Given the description of an element on the screen output the (x, y) to click on. 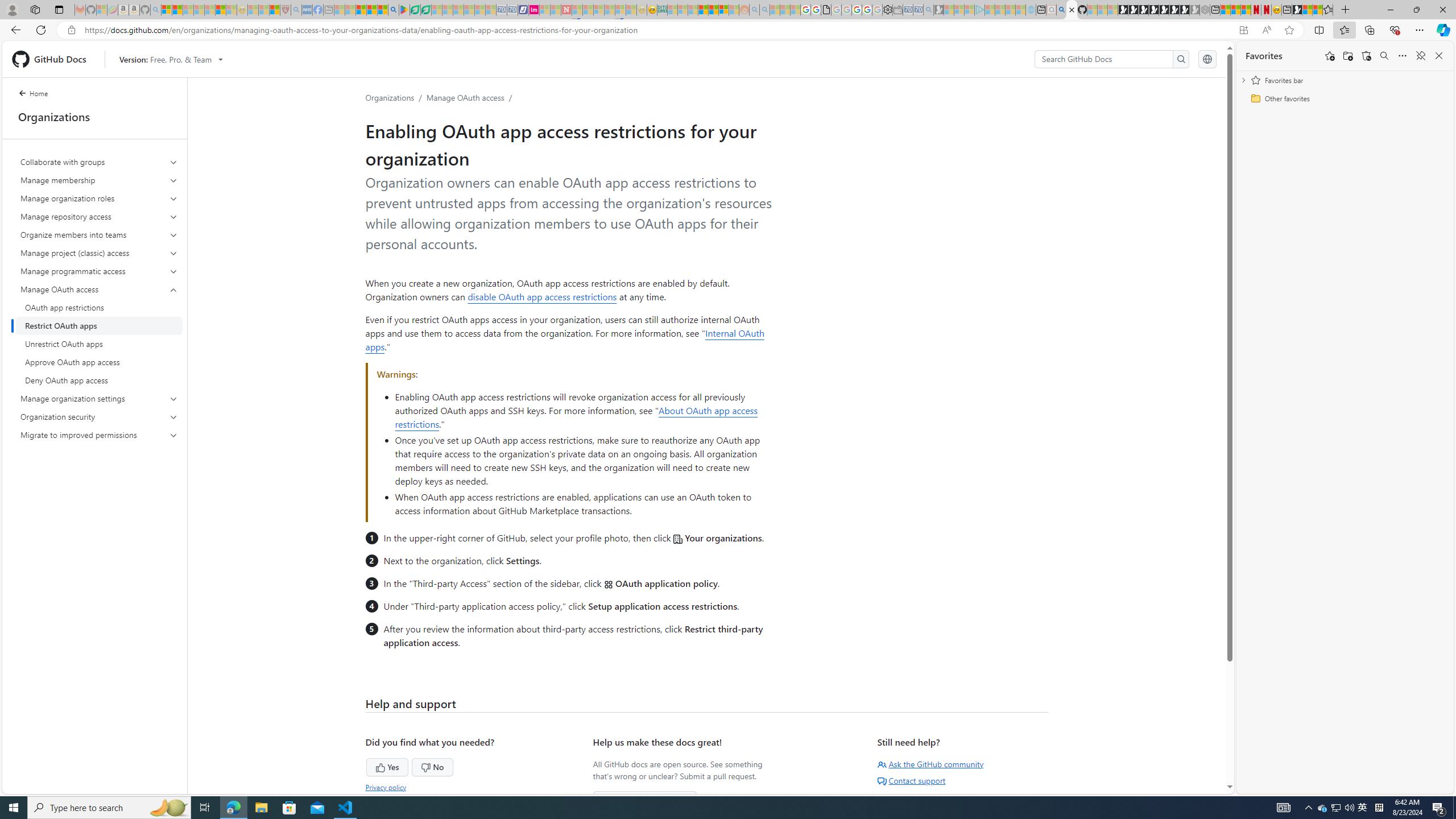
Manage project (classic) access (99, 253)
Scroll to top (1200, 768)
Manage membership (99, 180)
Pets - MSN (371, 9)
